Given the description of an element on the screen output the (x, y) to click on. 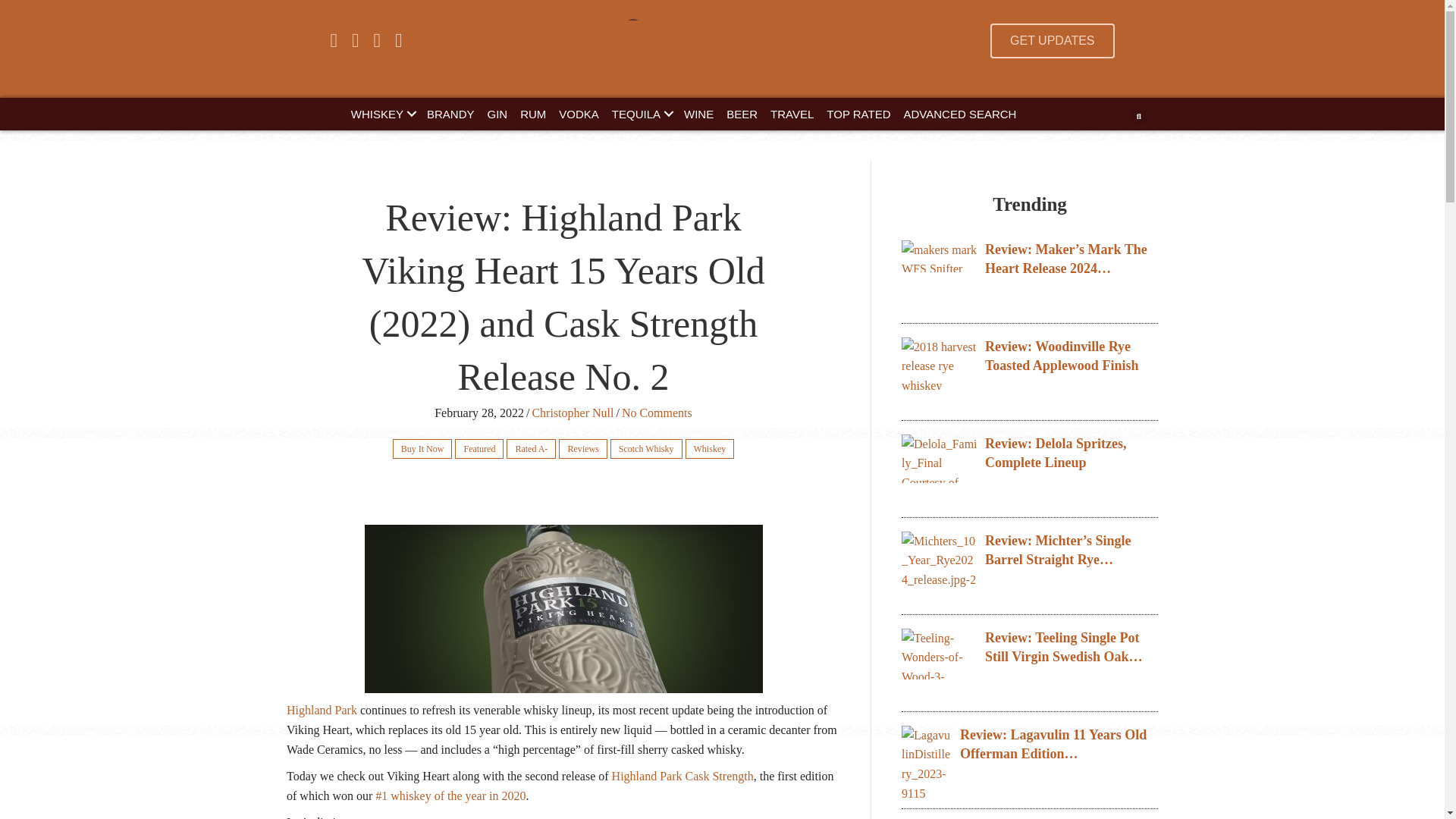
RUM (532, 113)
Submit (739, 313)
TEQUILA (641, 113)
TOP RATED (858, 113)
TRAVEL (791, 113)
GET UPDATES (1051, 40)
GIN (496, 113)
Click Here (1051, 40)
BEER (741, 113)
WINE (698, 113)
